Given the description of an element on the screen output the (x, y) to click on. 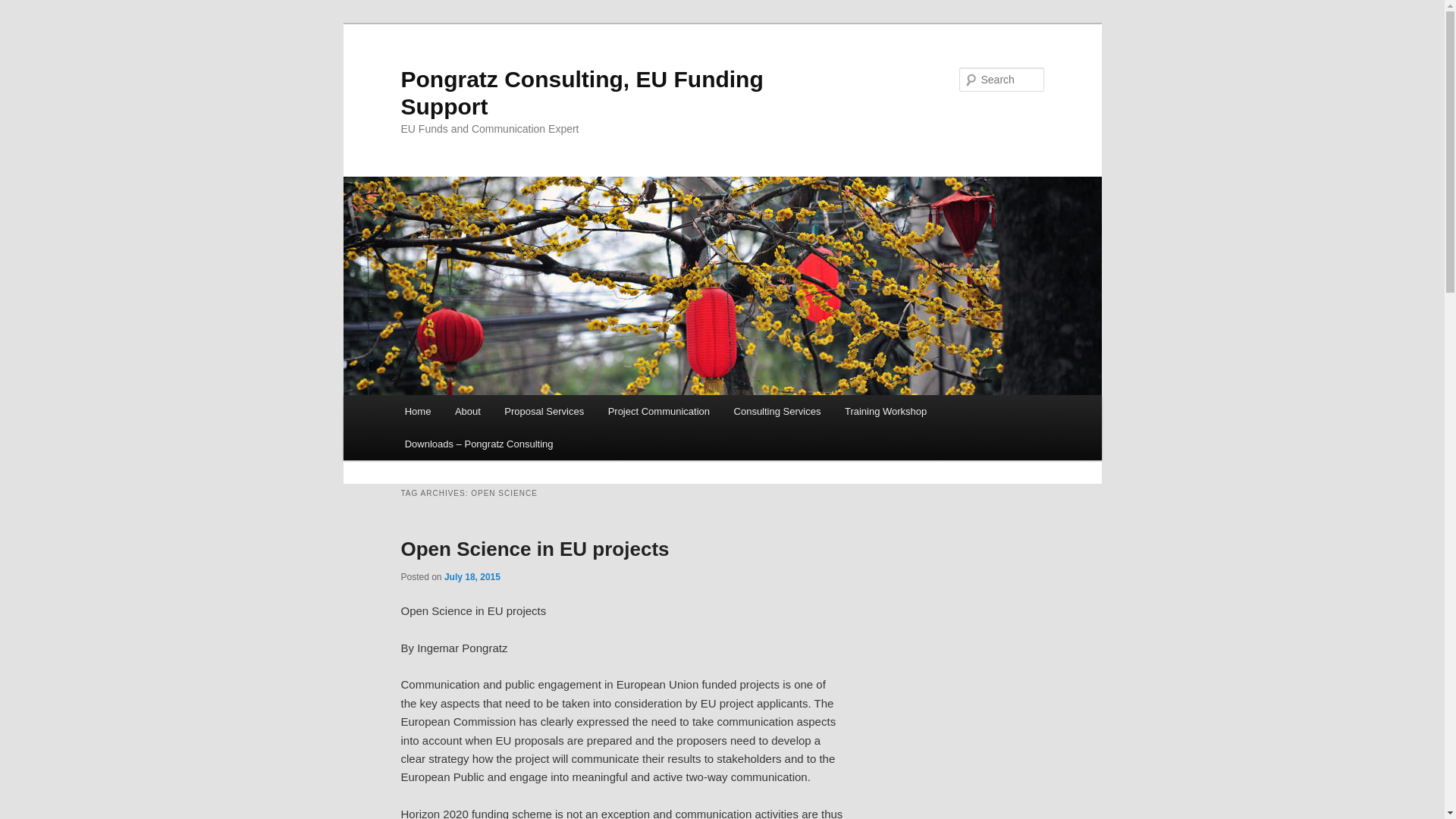
Proposal Services (544, 410)
Training Workshop (885, 410)
Home (417, 410)
Pongratz Consulting, EU Funding Support (581, 92)
About (467, 410)
Search (24, 8)
Project Communication (658, 410)
12:38 pm (472, 576)
Consulting Services (777, 410)
